Given the description of an element on the screen output the (x, y) to click on. 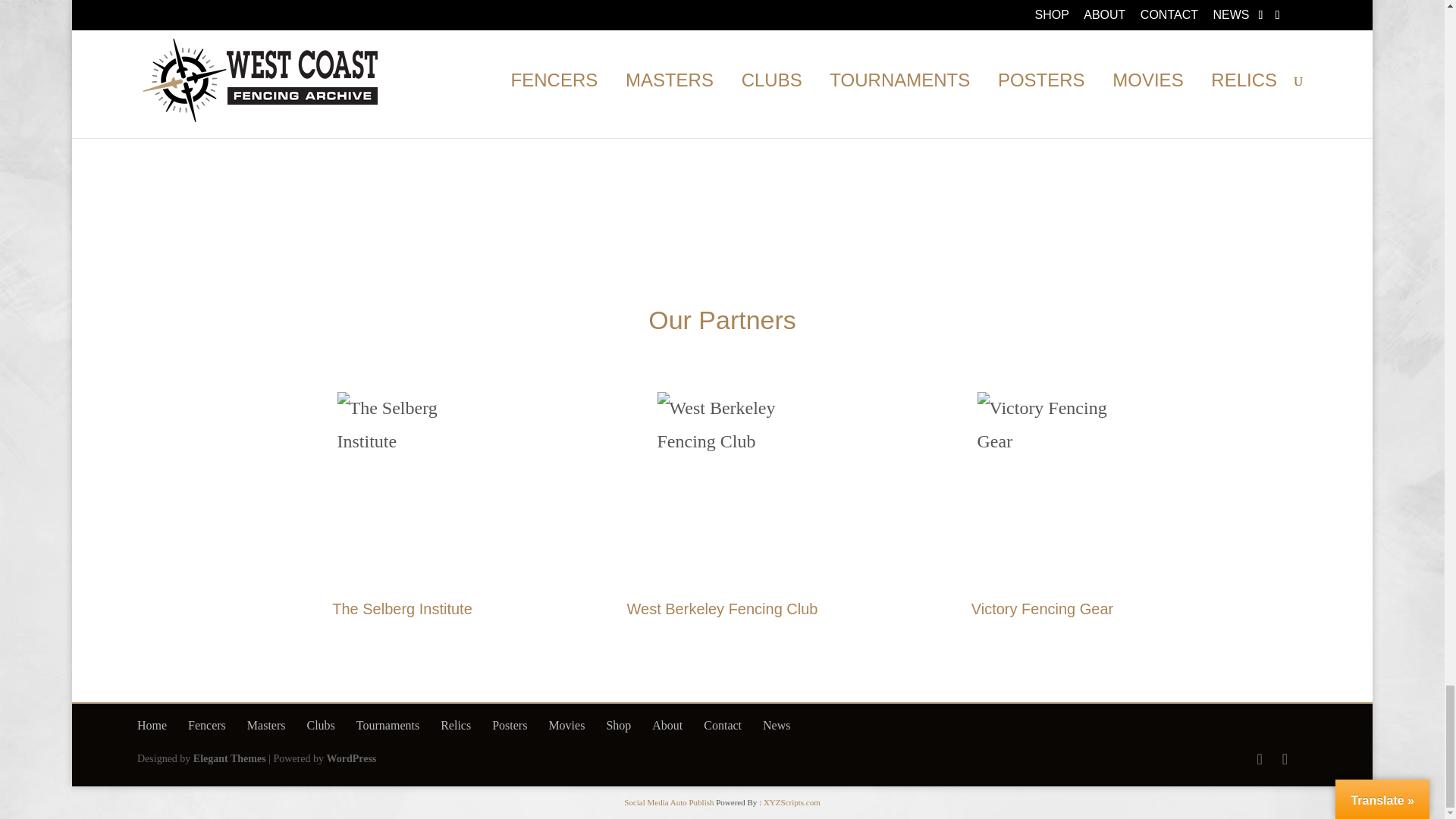
Premium WordPress Themes (229, 757)
Social Media Auto Publish (668, 801)
